Given the description of an element on the screen output the (x, y) to click on. 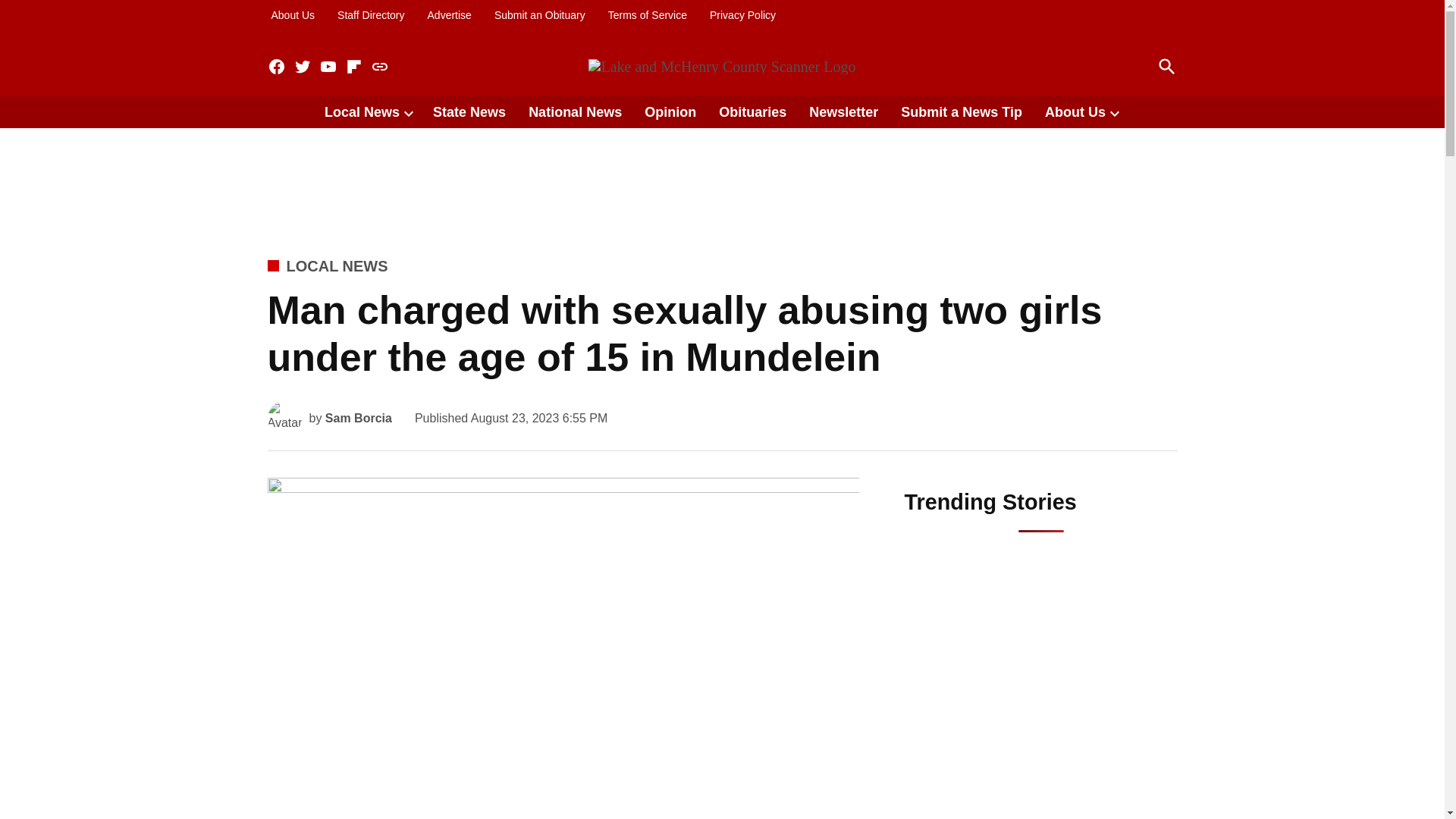
Facebook (275, 66)
About Us (292, 14)
Terms of Service (647, 14)
Submit an Obituary (539, 14)
Staff Directory (370, 14)
Privacy Policy (742, 14)
Advertise (449, 14)
